Given the description of an element on the screen output the (x, y) to click on. 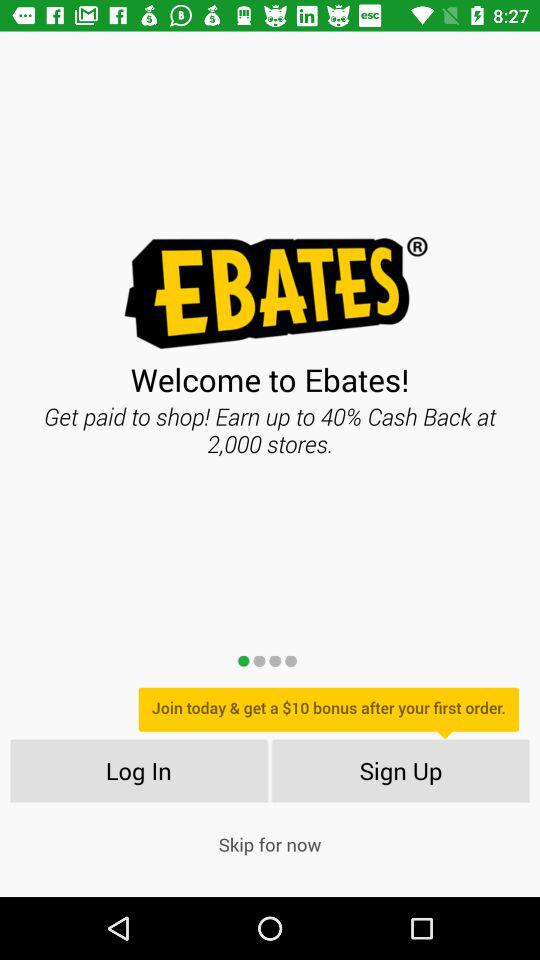
choose the icon below join today get item (138, 770)
